Given the description of an element on the screen output the (x, y) to click on. 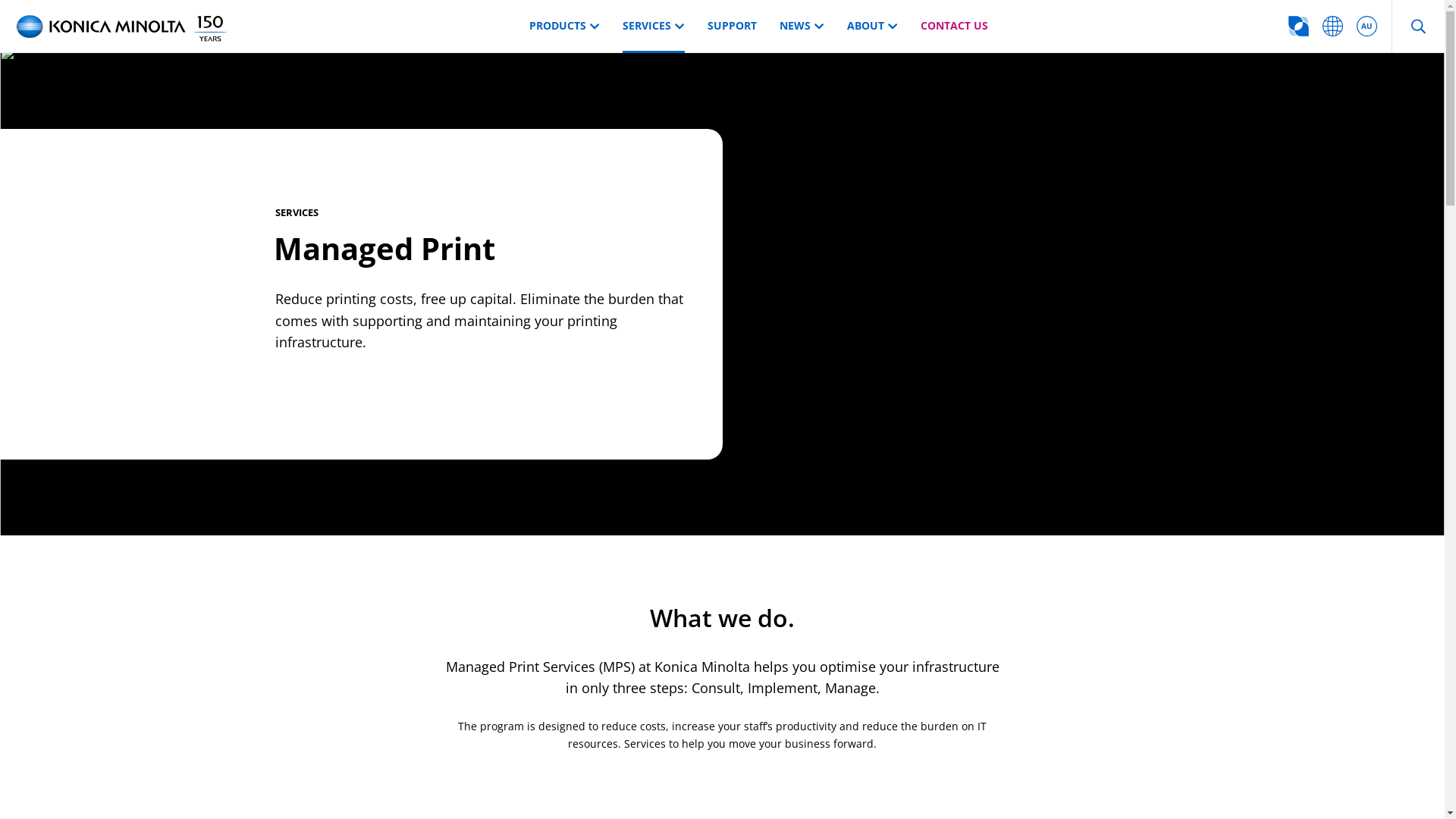
NEWS Element type: text (801, 26)
CONTACT US Element type: text (954, 26)
SUPPORT Element type: text (731, 26)
ABOUT Element type: text (871, 26)
Insight Hub Element type: hover (1298, 26)
